Given the description of an element on the screen output the (x, y) to click on. 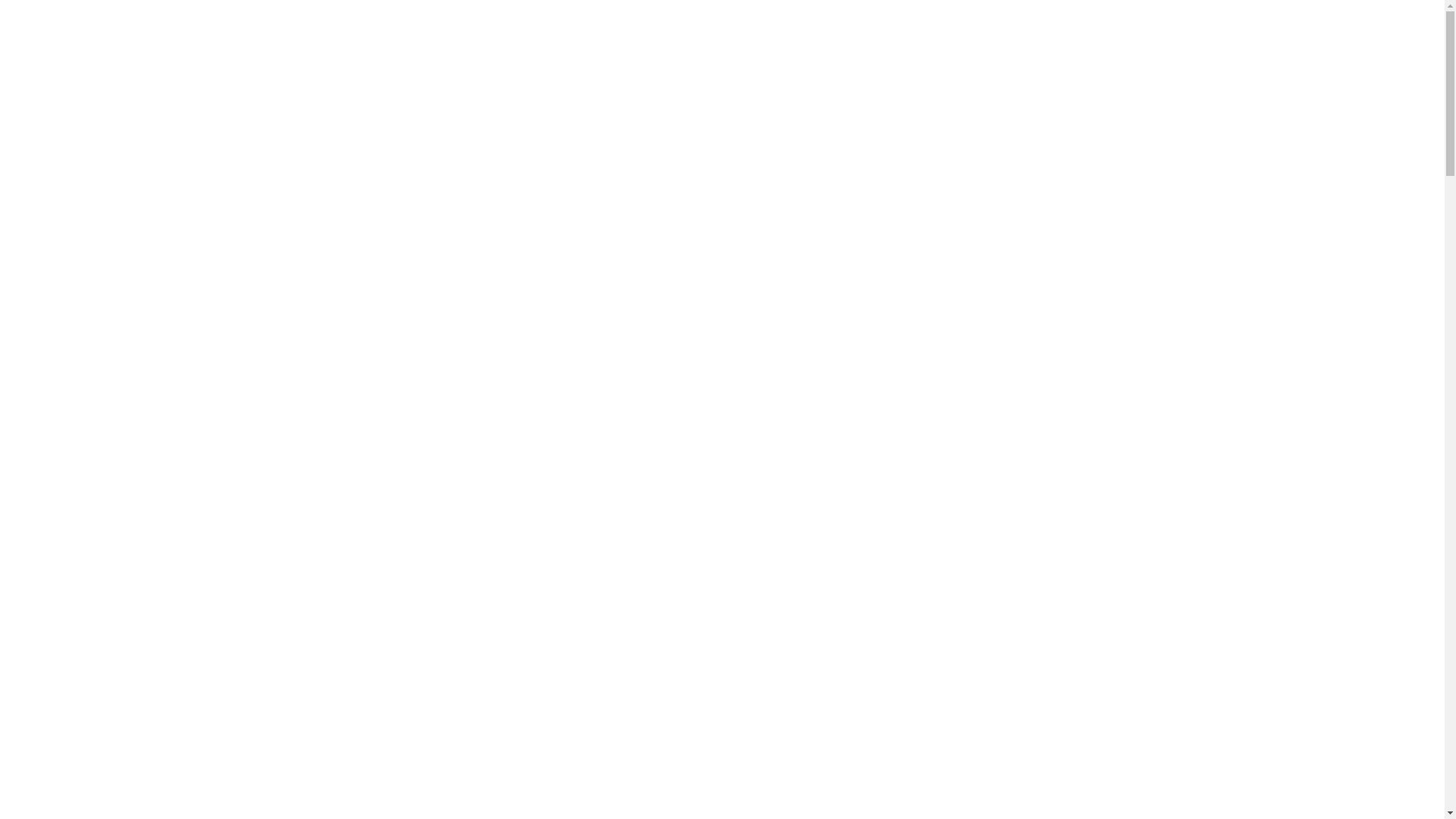
TRACK LIST Element type: text (506, 43)
INTRO Element type: text (938, 43)
SHDB_LOGO Element type: text (722, 43)
HOME Element type: text (362, 43)
WHERE TO BUY Element type: text (1082, 43)
